Given the description of an element on the screen output the (x, y) to click on. 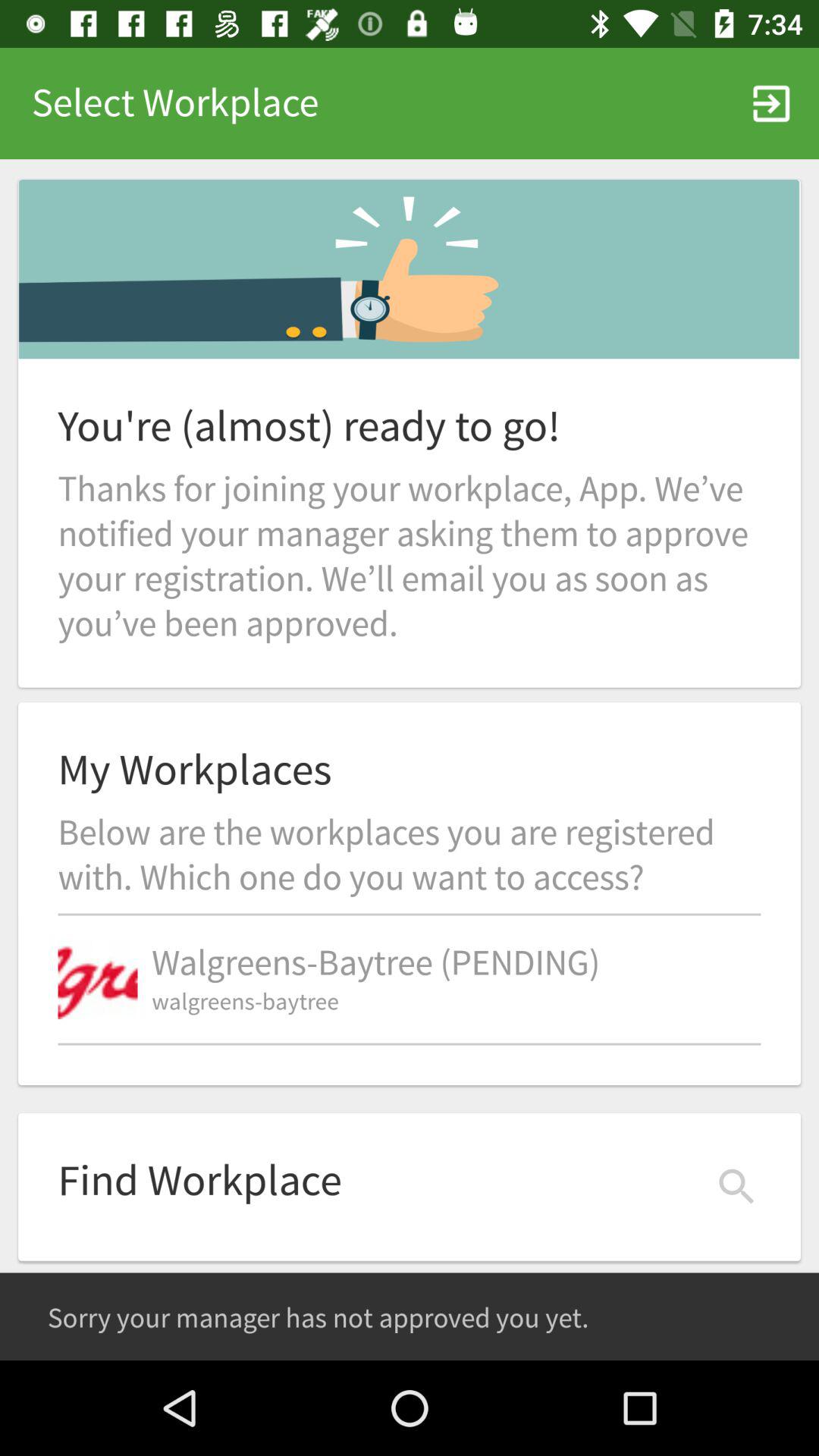
turn on icon next to select workplace item (771, 103)
